Given the description of an element on the screen output the (x, y) to click on. 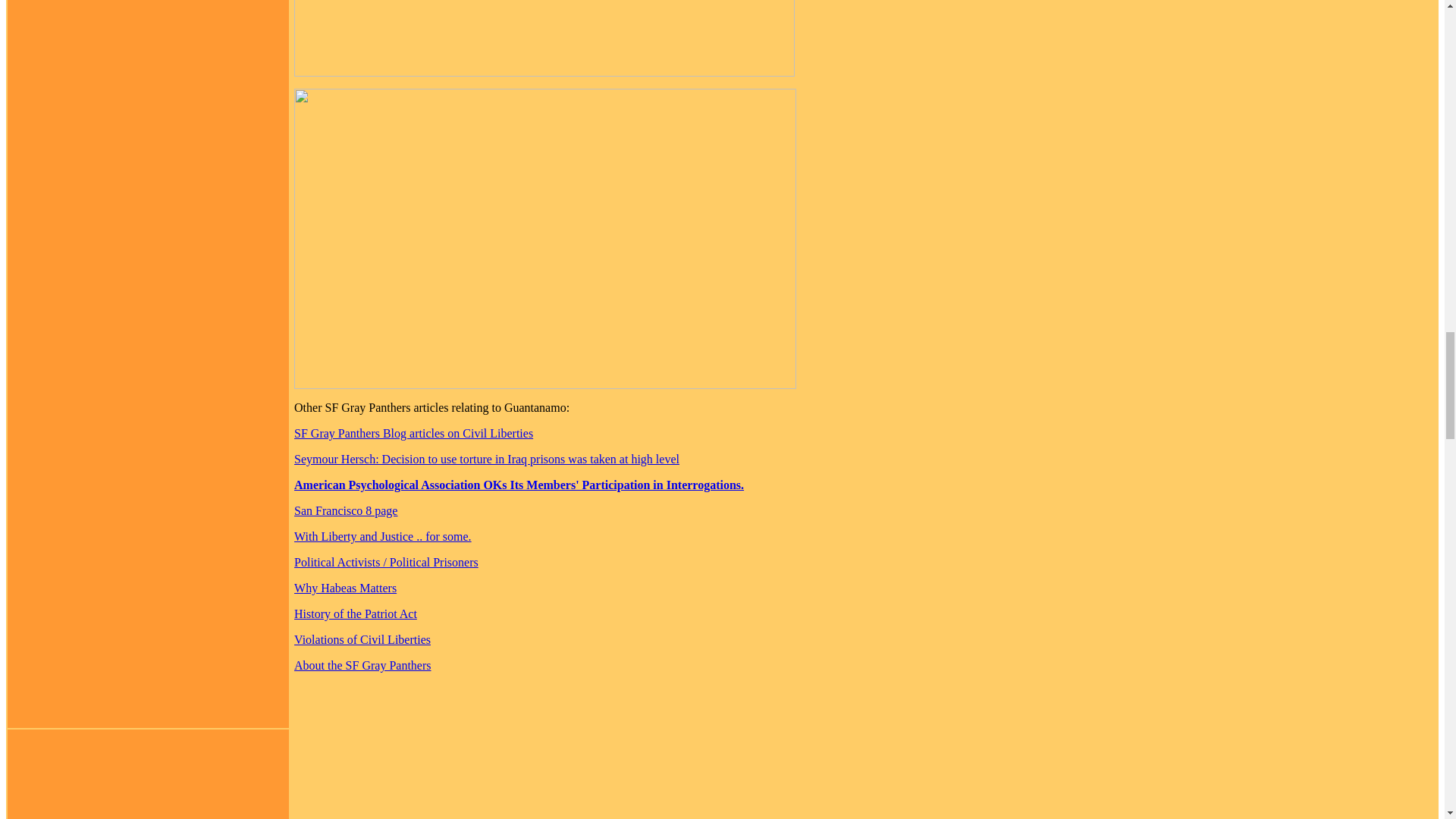
Why Habeas Matters (345, 587)
Violations of Civil Liberties (362, 639)
With Liberty and Justice .. for some. (382, 535)
About the SF Gray Panthers (362, 665)
History of the Patriot Act (355, 613)
SF Gray Panthers Blog articles on Civil Liberties (413, 432)
San Francisco 8 page (345, 510)
